Given the description of an element on the screen output the (x, y) to click on. 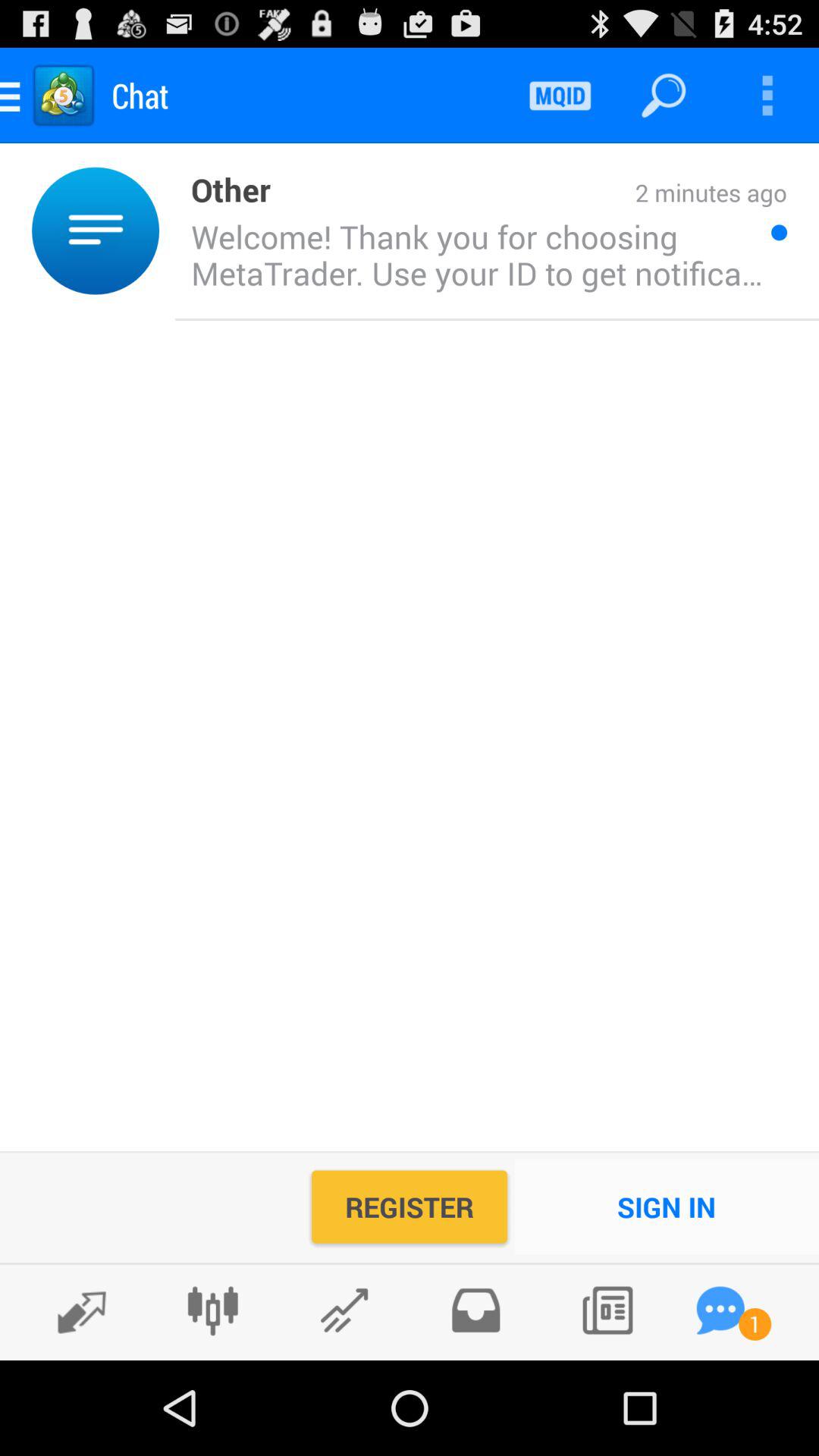
history (475, 1310)
